Given the description of an element on the screen output the (x, y) to click on. 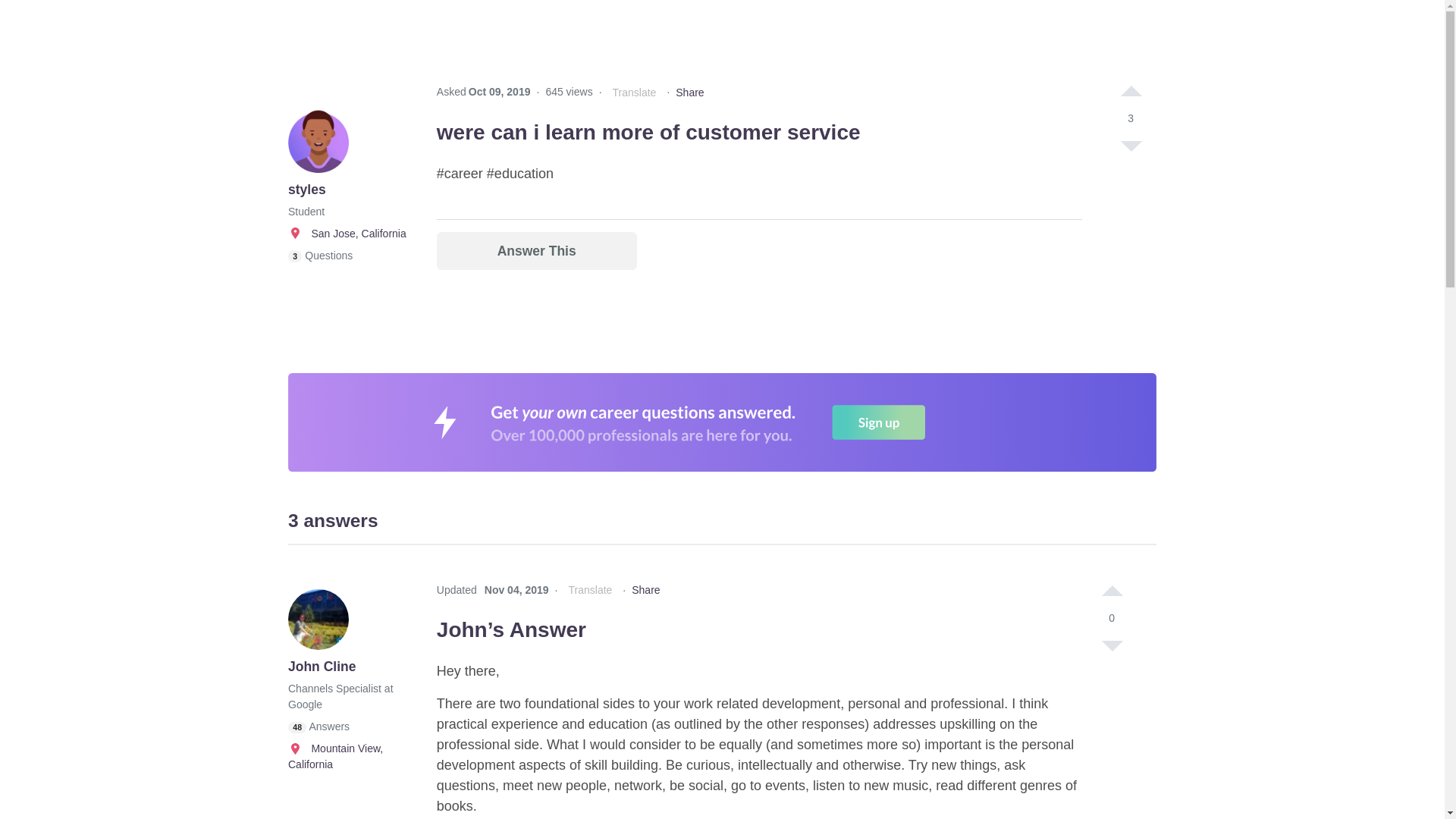
Share (689, 92)
Translate (634, 92)
  San Jose, California (347, 233)
Answer This (536, 251)
